Given the description of an element on the screen output the (x, y) to click on. 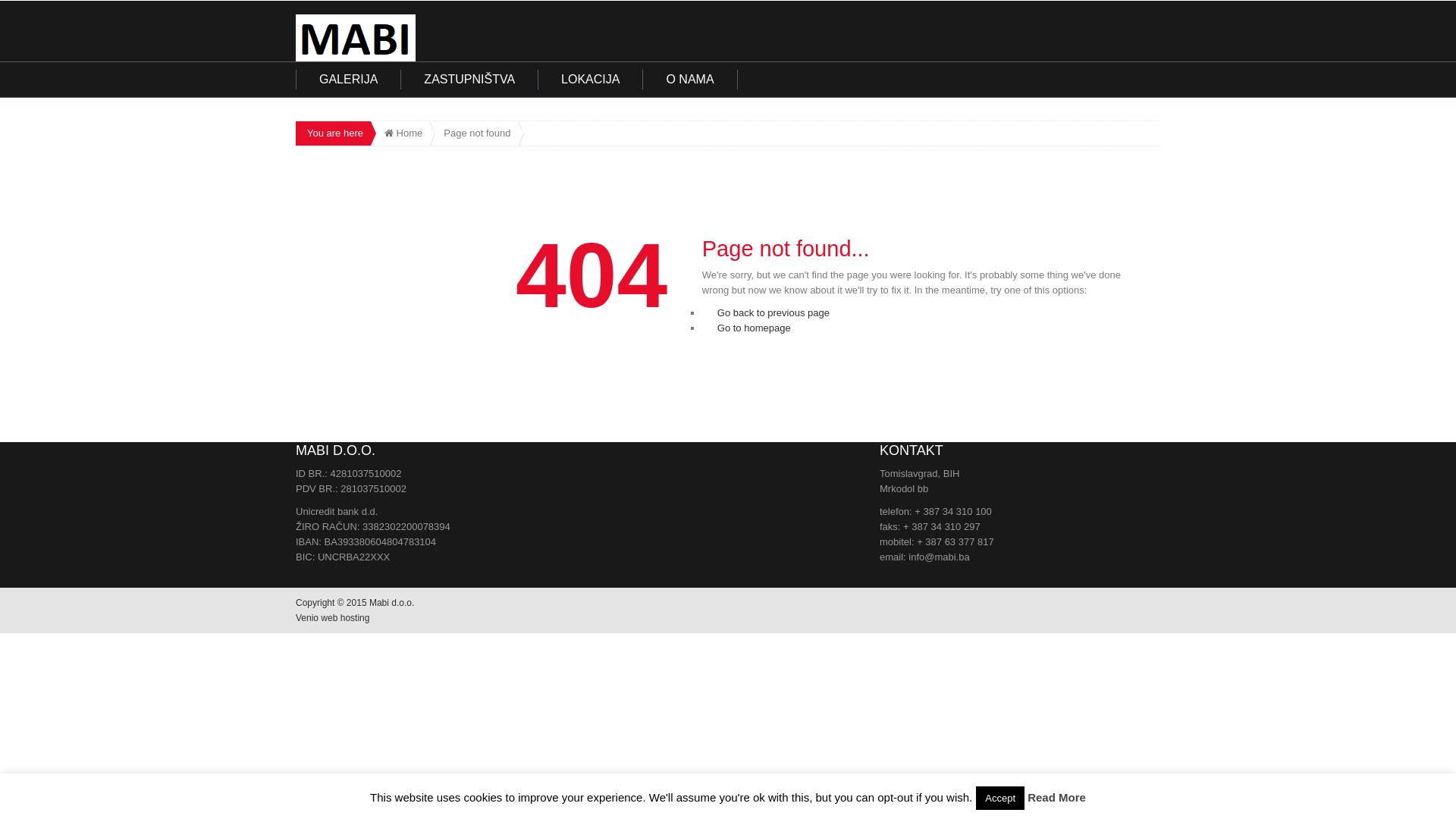
Read More Element type: text (1056, 796)
Venio web hosting Element type: text (332, 617)
 Home Element type: text (403, 132)
Page not found Element type: text (473, 133)
Go to homepage Element type: text (753, 327)
Go back to previous page Element type: text (773, 312)
LOKACIJA Element type: text (590, 79)
Accept Element type: text (999, 797)
GALERIJA Element type: text (348, 79)
O NAMA Element type: text (690, 79)
